Given the description of an element on the screen output the (x, y) to click on. 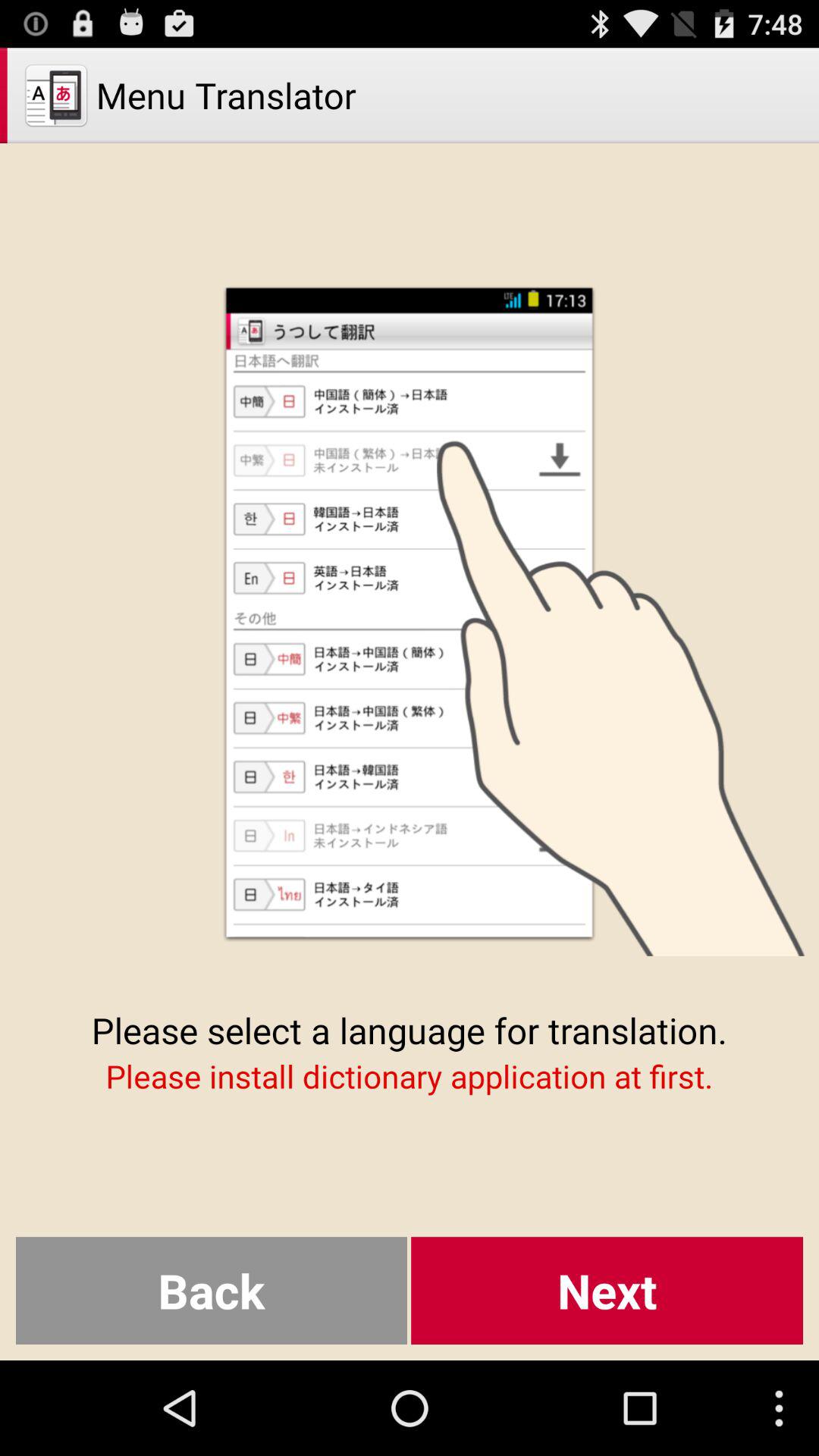
select back (211, 1290)
